Given the description of an element on the screen output the (x, y) to click on. 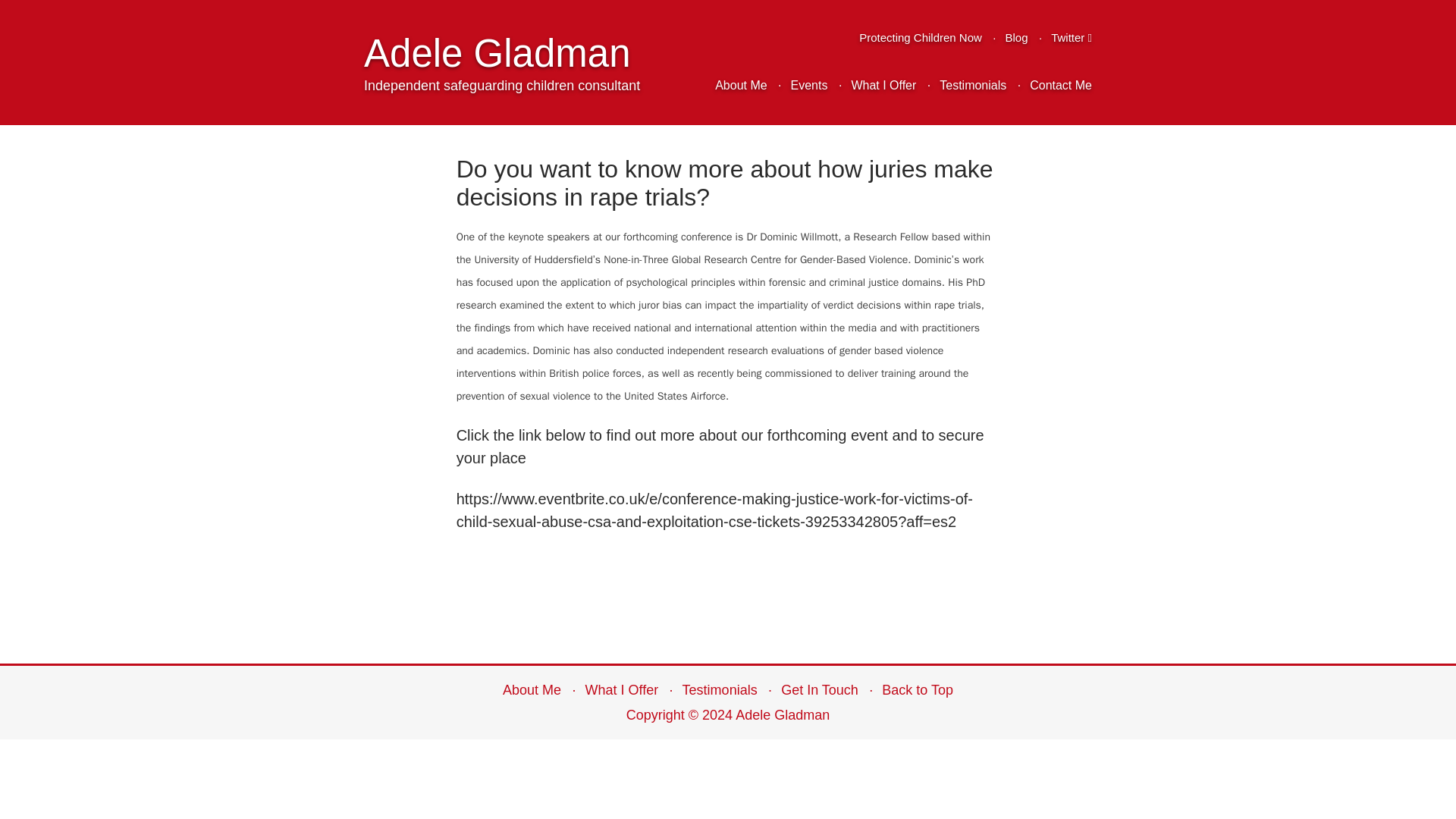
About Me (740, 85)
Get In Touch (819, 690)
About Me (531, 690)
Blog (1016, 38)
Contact Me (1060, 85)
What I Offer (621, 690)
Testimonials (972, 85)
Testimonials (719, 690)
About Me (740, 85)
Events (809, 85)
